Given the description of an element on the screen output the (x, y) to click on. 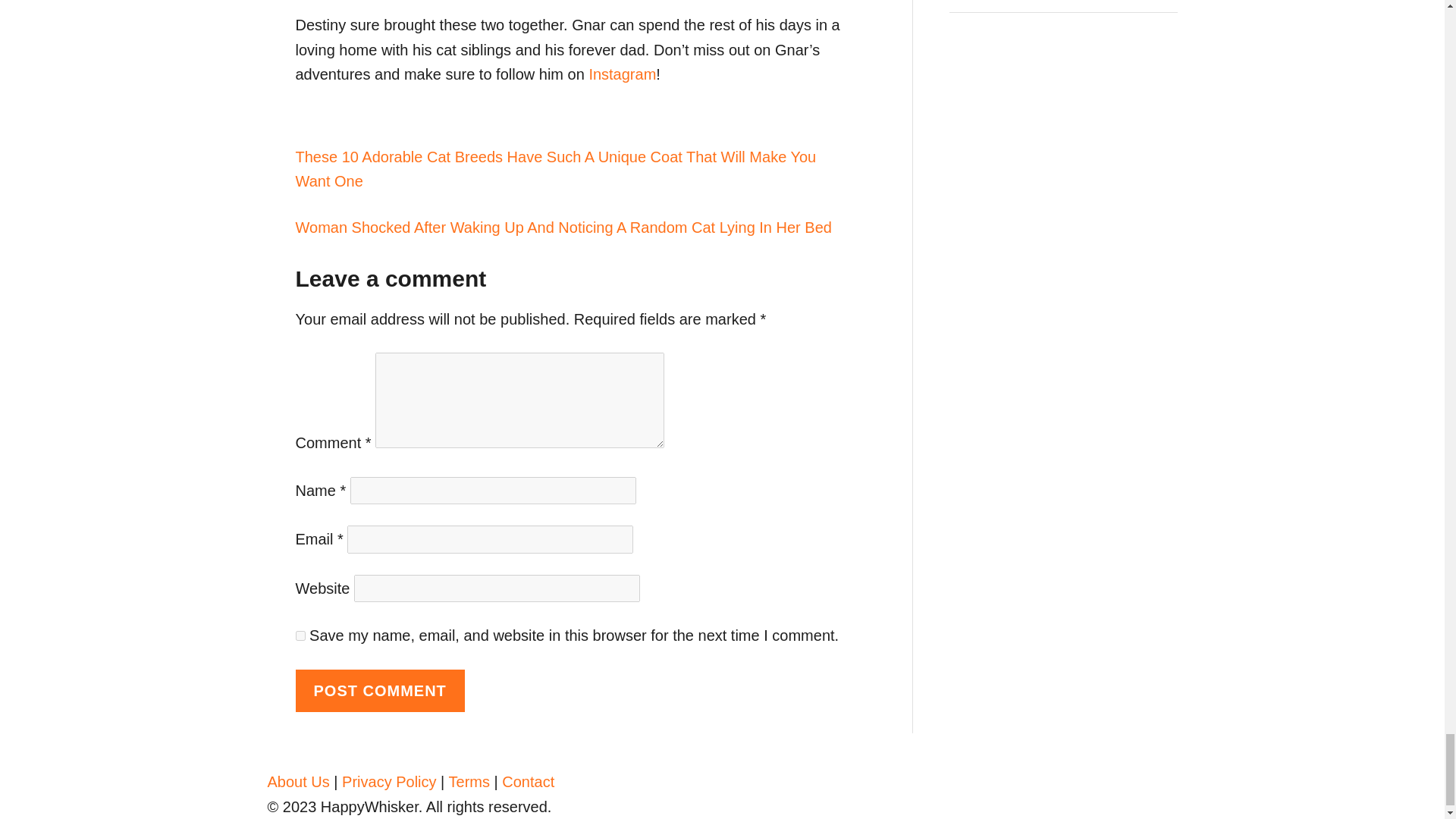
Post Comment (379, 690)
Privacy Policy (388, 781)
Instagram (622, 74)
About Us (297, 781)
Terms (468, 781)
Post Comment (379, 690)
yes (300, 635)
